Given the description of an element on the screen output the (x, y) to click on. 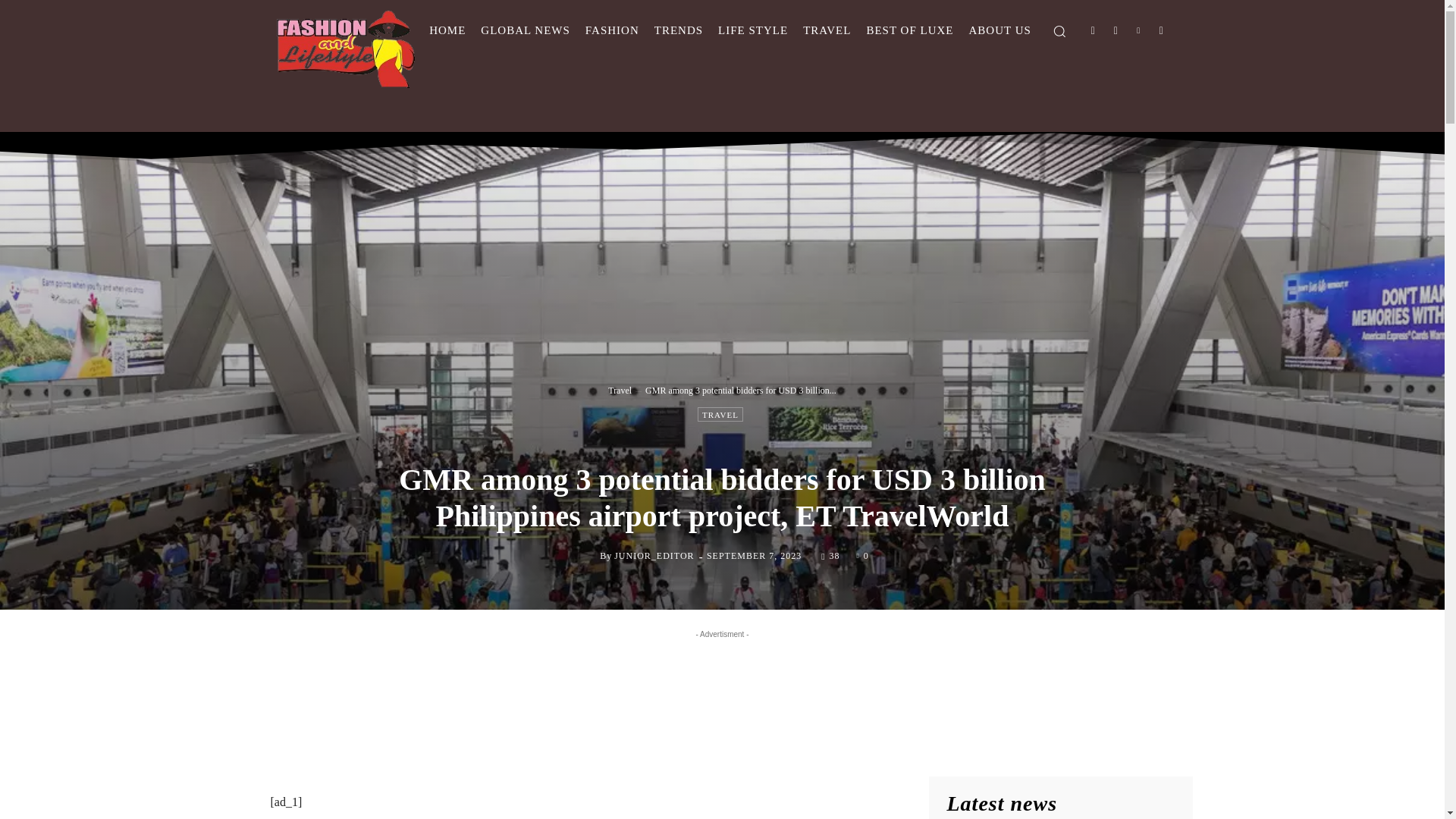
FASHION (612, 30)
LIFE STYLE (752, 30)
Instagram (1115, 29)
Twitter (1138, 29)
Facebook (1093, 29)
0 (863, 554)
GLOBAL NEWS (525, 30)
TRAVEL (719, 414)
TRENDS (678, 30)
Travel (619, 389)
BEST OF LUXE (909, 30)
ABOUT US (999, 30)
View all posts in Travel (619, 389)
HOME (447, 30)
TRAVEL (826, 30)
